Given the description of an element on the screen output the (x, y) to click on. 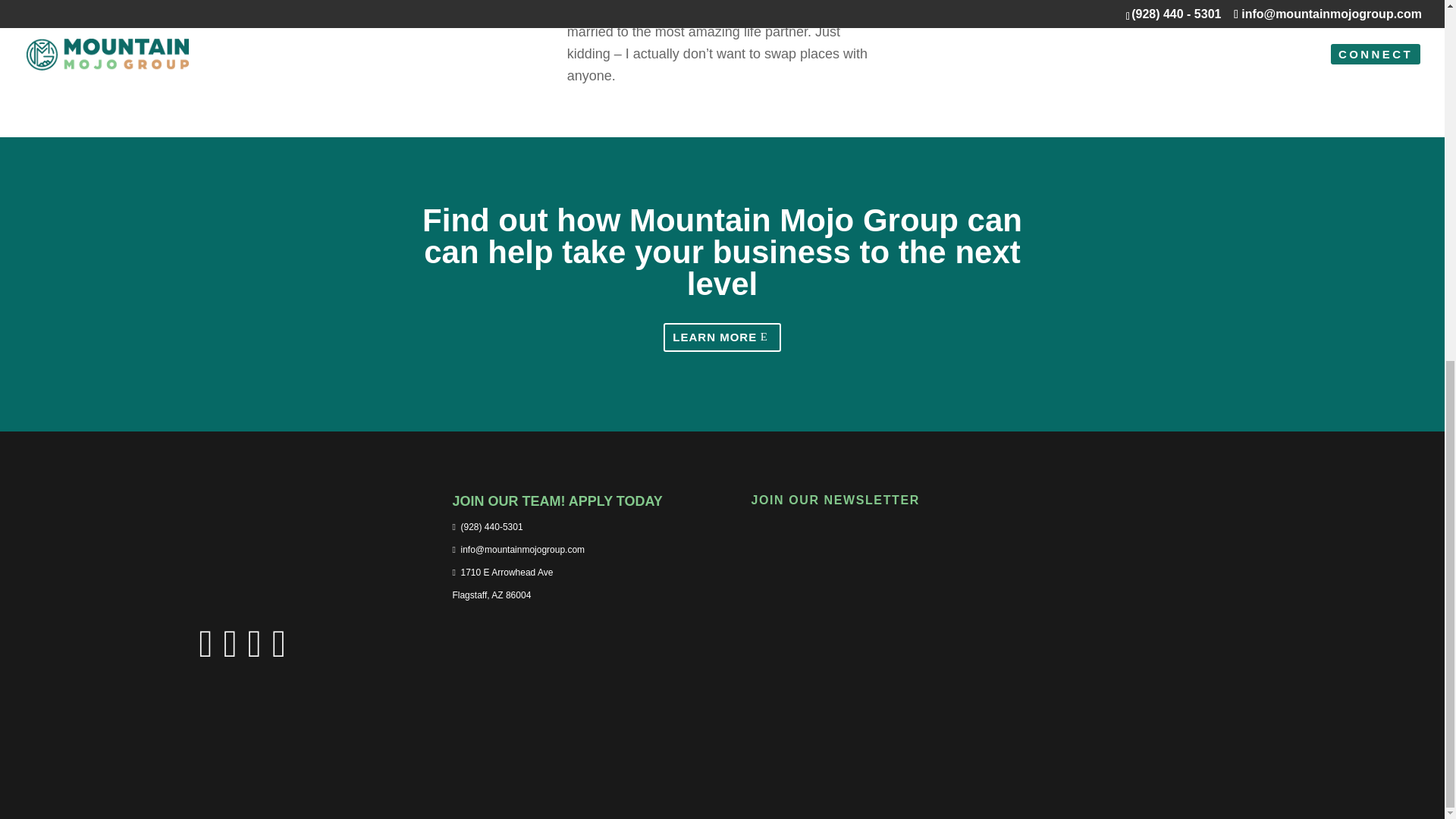
JOIN OUR TEAM! APPLY TODAY (502, 583)
LEARN MORE (565, 513)
